Given the description of an element on the screen output the (x, y) to click on. 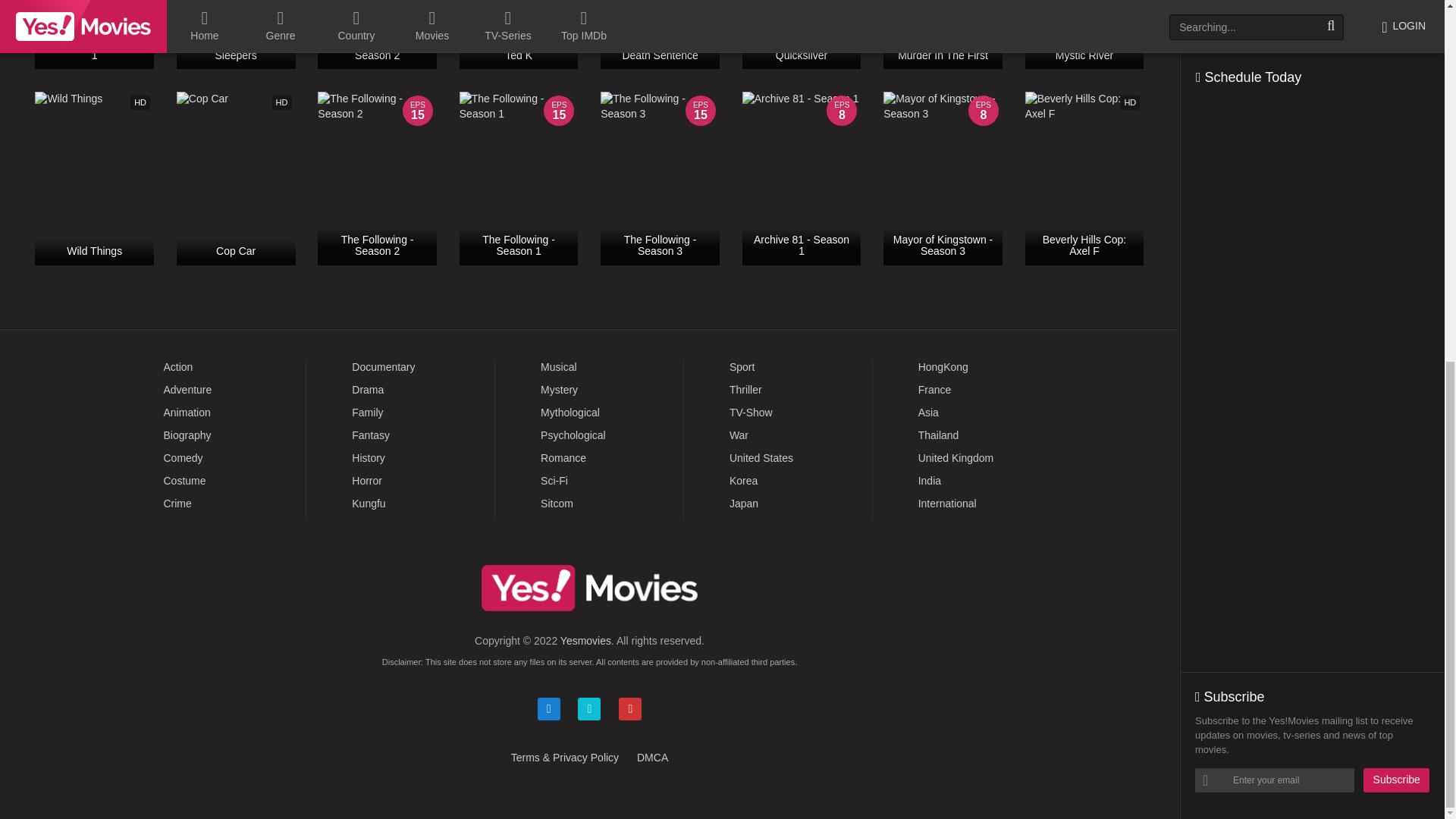
Subscribe (1395, 137)
